Given the description of an element on the screen output the (x, y) to click on. 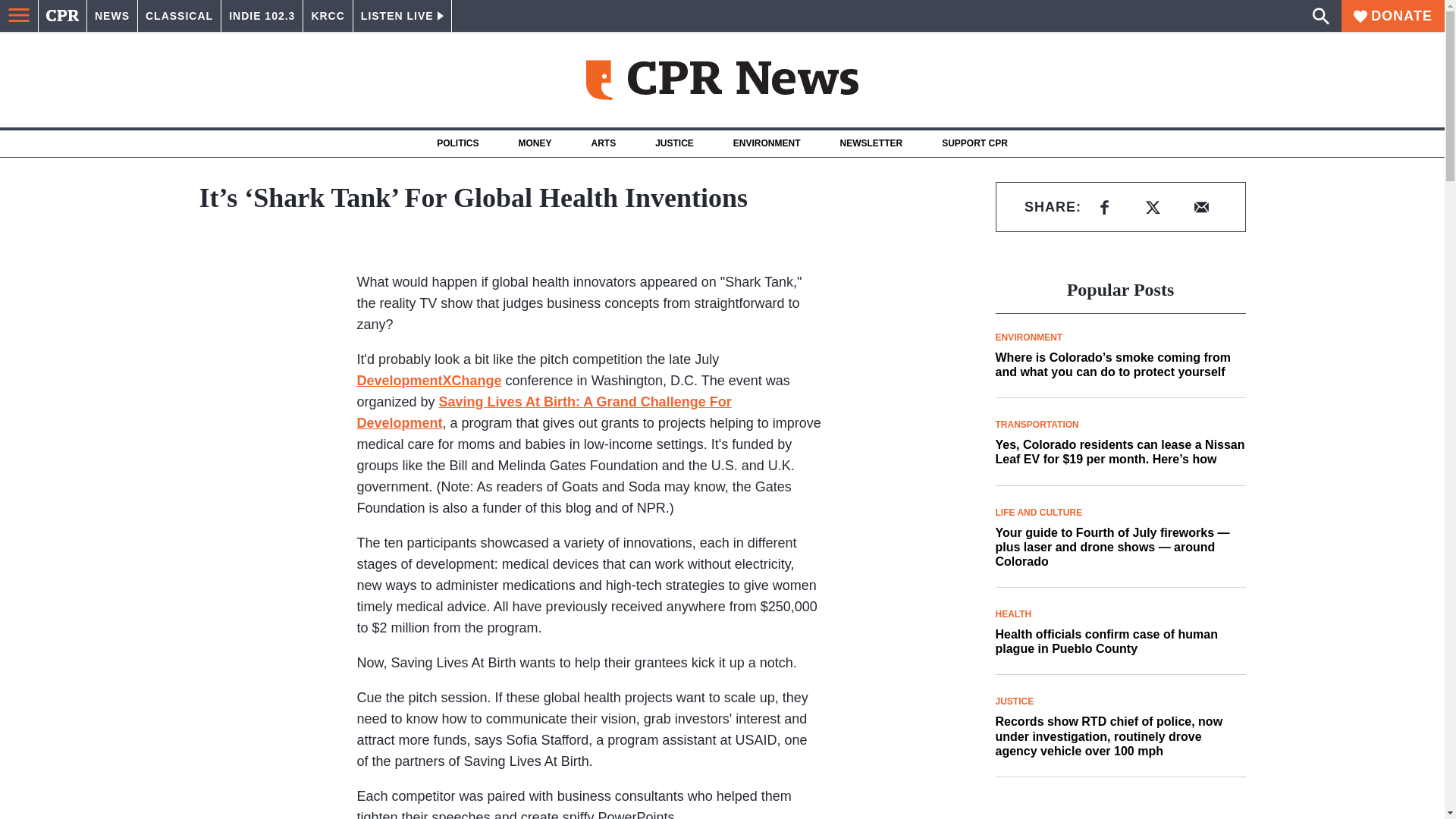
LISTEN LIVE (402, 15)
KRCC (327, 15)
CLASSICAL (179, 15)
INDIE 102.3 (261, 15)
NEWS (111, 15)
